Given the description of an element on the screen output the (x, y) to click on. 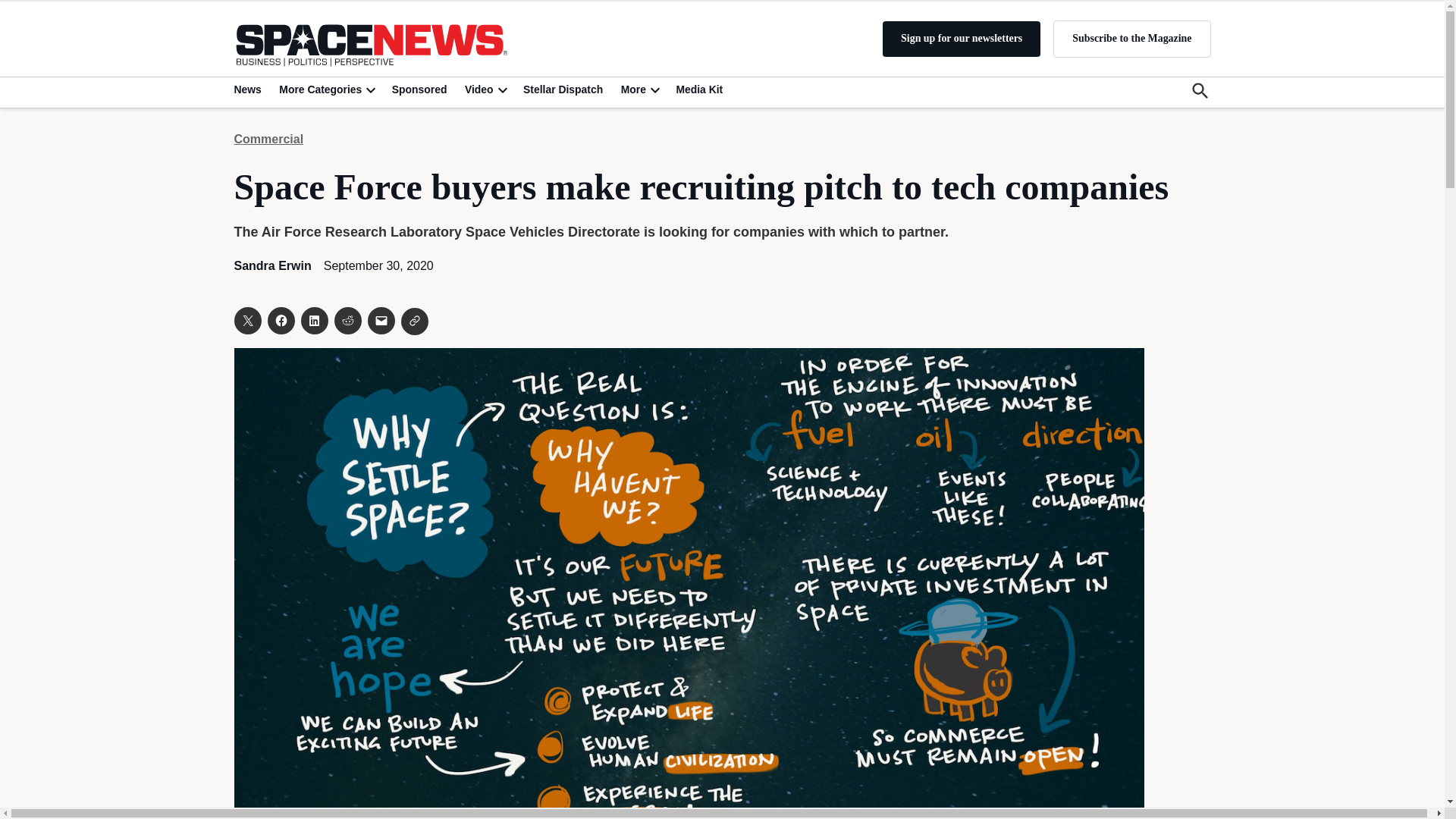
Click to email a link to a friend (380, 320)
Click to share on LinkedIn (313, 320)
Subscribe to the Magazine (1130, 38)
Click to share on Reddit (347, 320)
Click to share on X (246, 320)
Sign up for our newsletters (961, 38)
Click to share on Facebook (280, 320)
Click to share on Clipboard (414, 320)
